Given the description of an element on the screen output the (x, y) to click on. 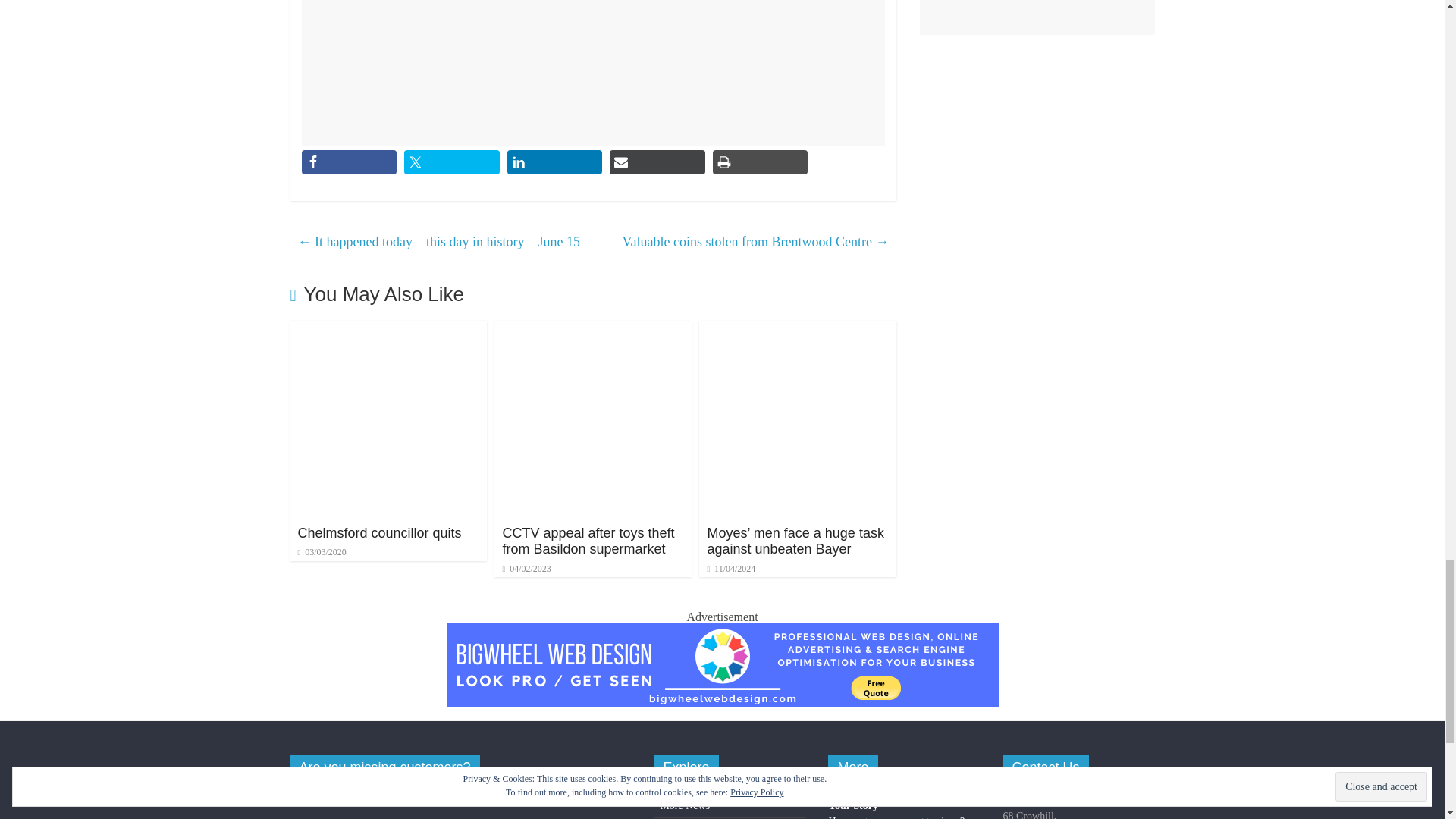
Share on Twitter (451, 161)
Chelmsford councillor quits (379, 532)
Print this Page (760, 161)
12:46 pm (321, 552)
Share on LinkedIn (554, 161)
Share on Facebook (349, 161)
Chelmsford councillor quits (387, 329)
Share via Email (657, 161)
